Given the description of an element on the screen output the (x, y) to click on. 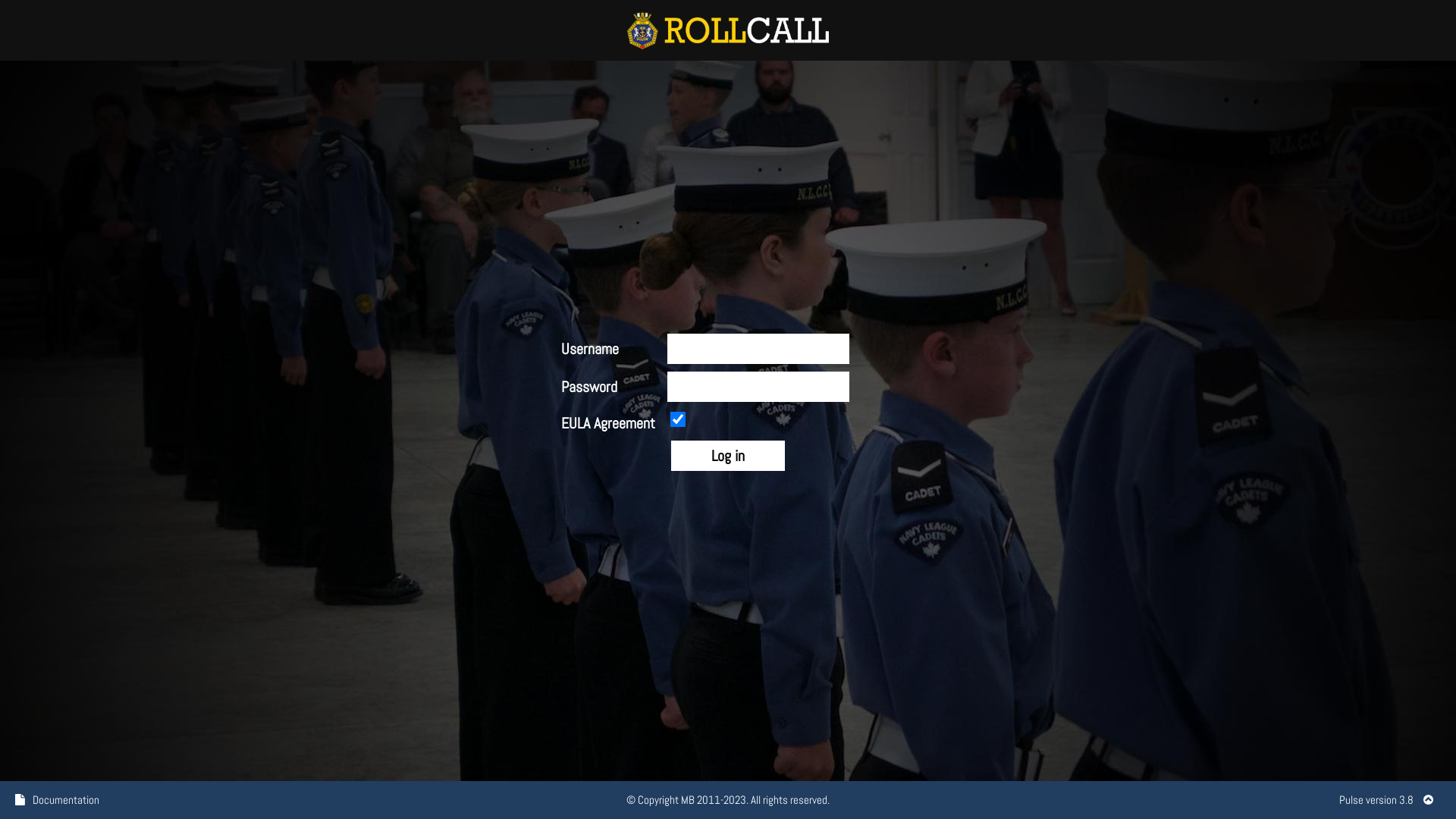
Go to the top Element type: hover (1428, 799)
Log in Element type: text (727, 455)
